Given the description of an element on the screen output the (x, y) to click on. 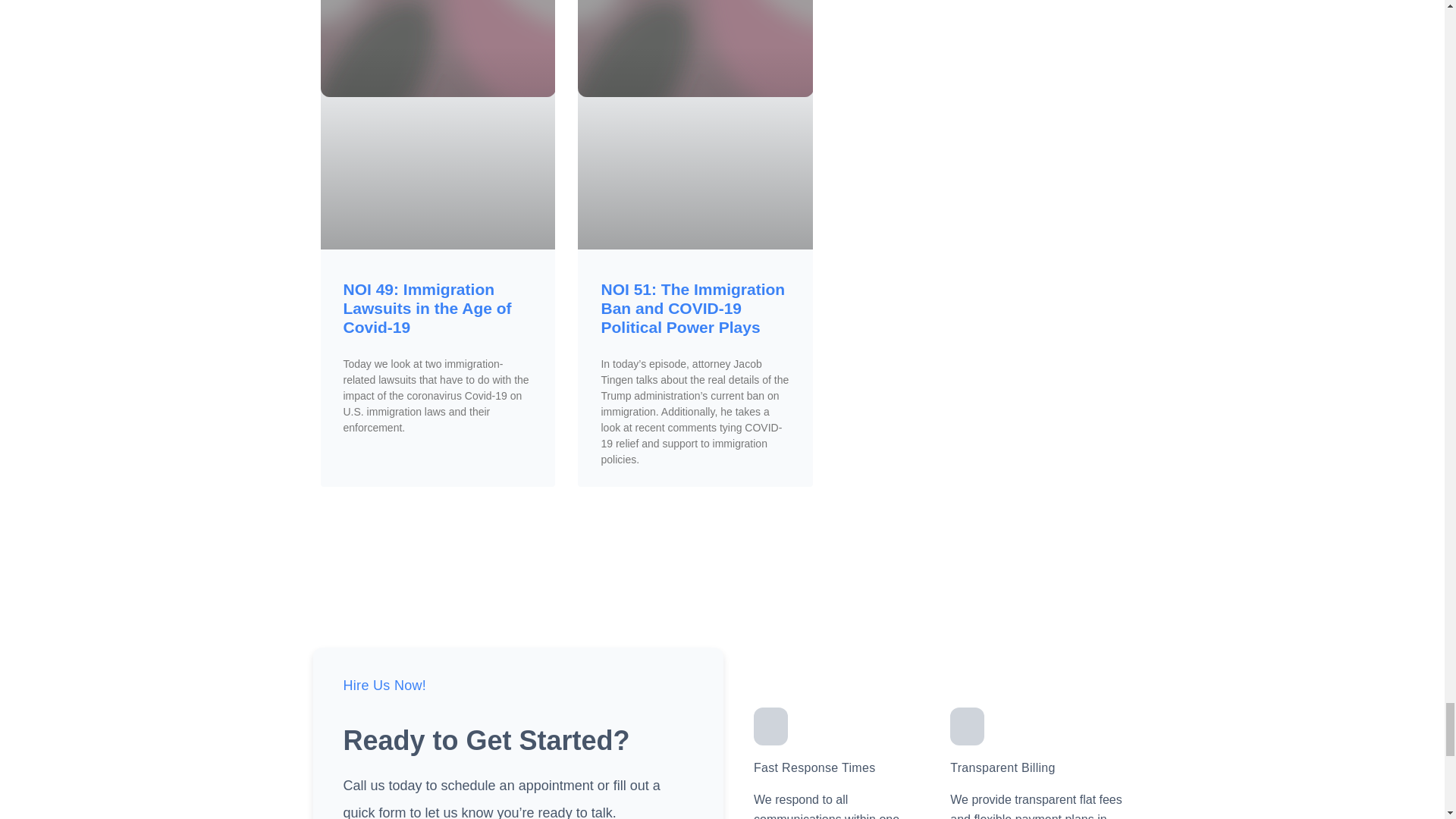
NOI 49: Immigration Lawsuits in the Age of Covid-19 (426, 307)
